Given the description of an element on the screen output the (x, y) to click on. 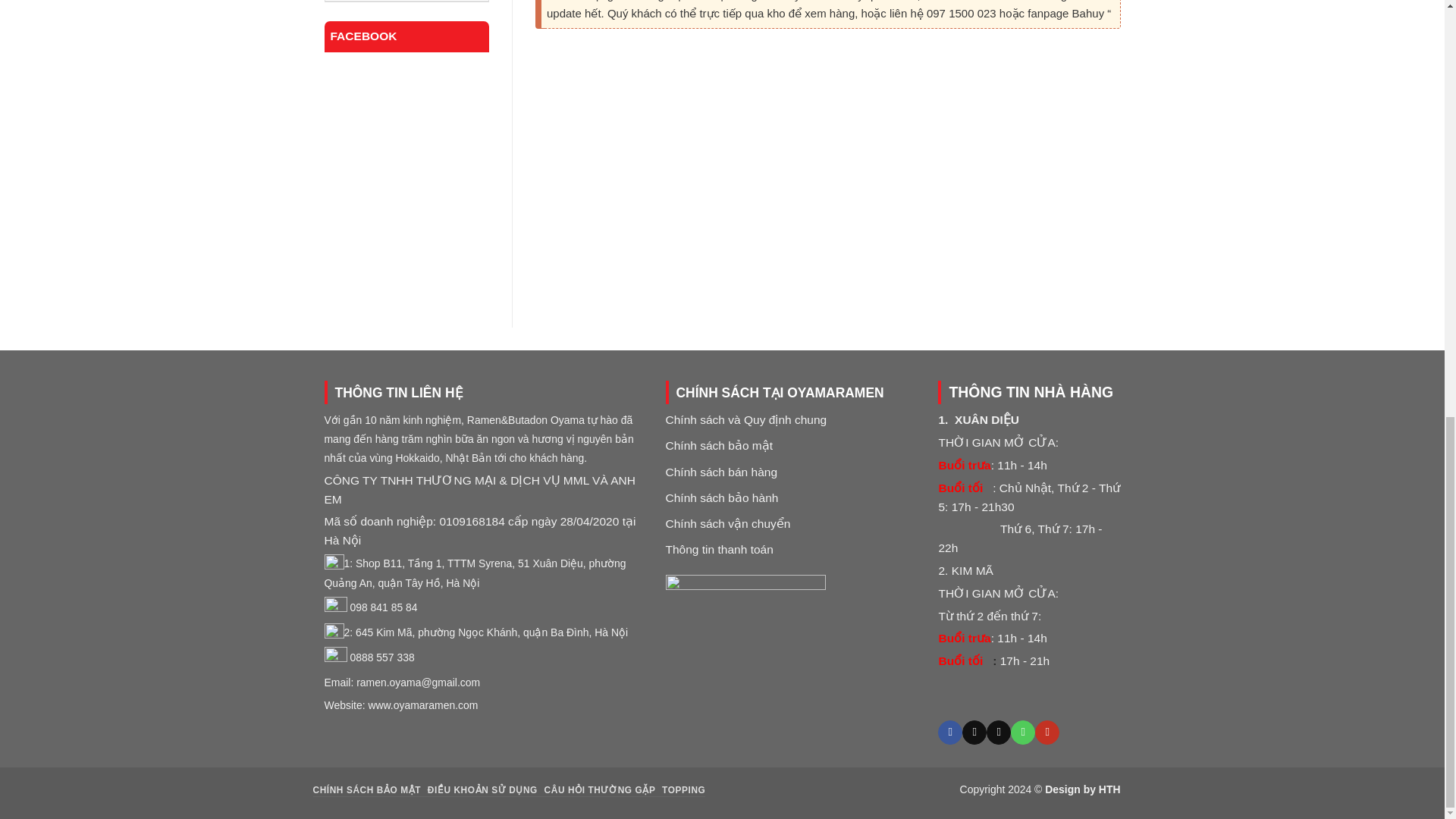
Send us an email (998, 732)
Follow on TikTok (974, 732)
Call us (1022, 732)
Follow on Facebook (949, 732)
